Given the description of an element on the screen output the (x, y) to click on. 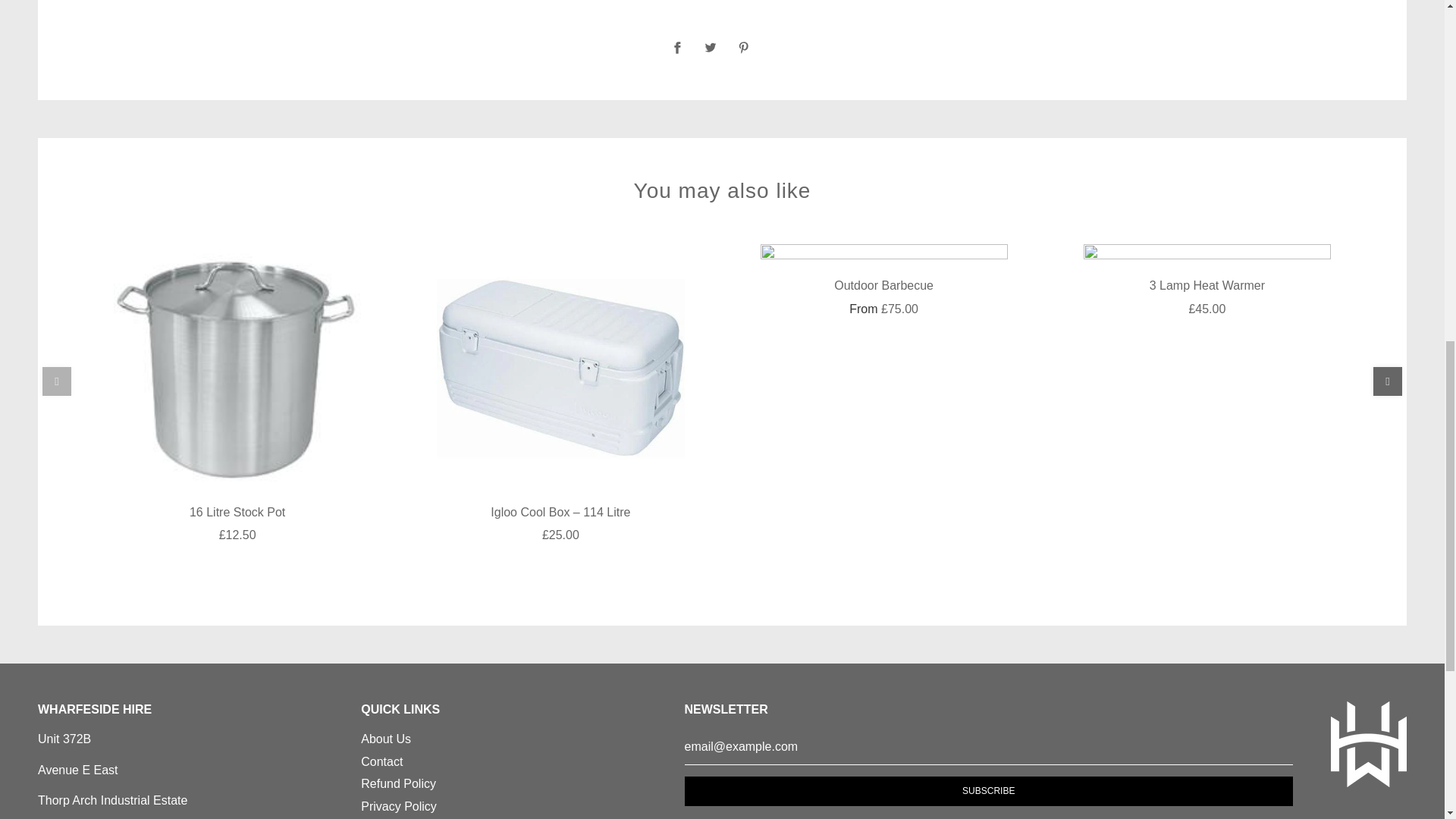
Subscribe (988, 790)
